Given the description of an element on the screen output the (x, y) to click on. 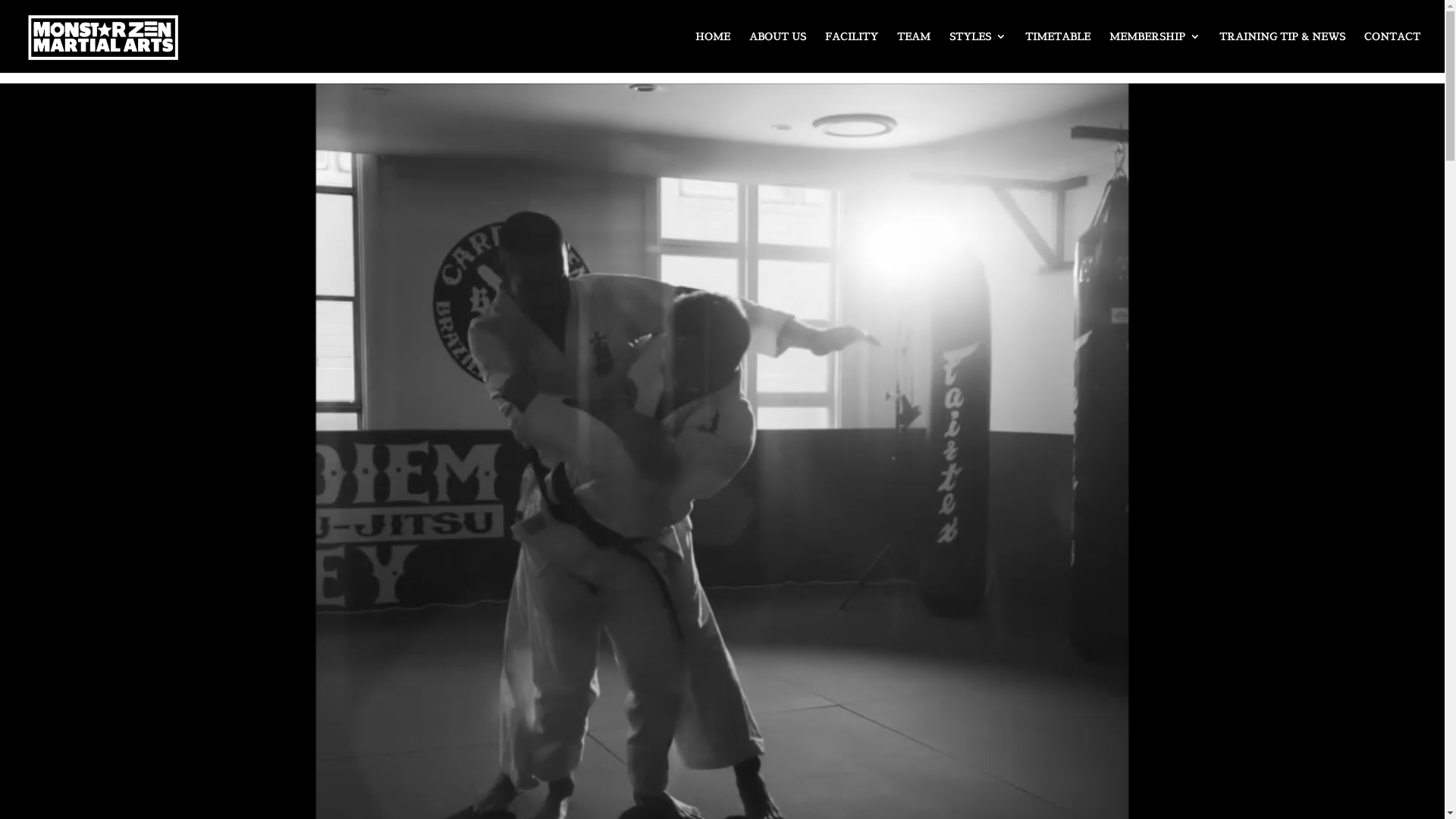
FACILITY Element type: text (851, 51)
TRAINING TIP & NEWS Element type: text (1282, 51)
TIMETABLE Element type: text (1057, 51)
STYLES Element type: text (977, 51)
ABOUT US Element type: text (777, 51)
TEAM Element type: text (913, 51)
CONTACT Element type: text (1392, 51)
HOME Element type: text (712, 51)
MEMBERSHIP Element type: text (1154, 51)
